Given the description of an element on the screen output the (x, y) to click on. 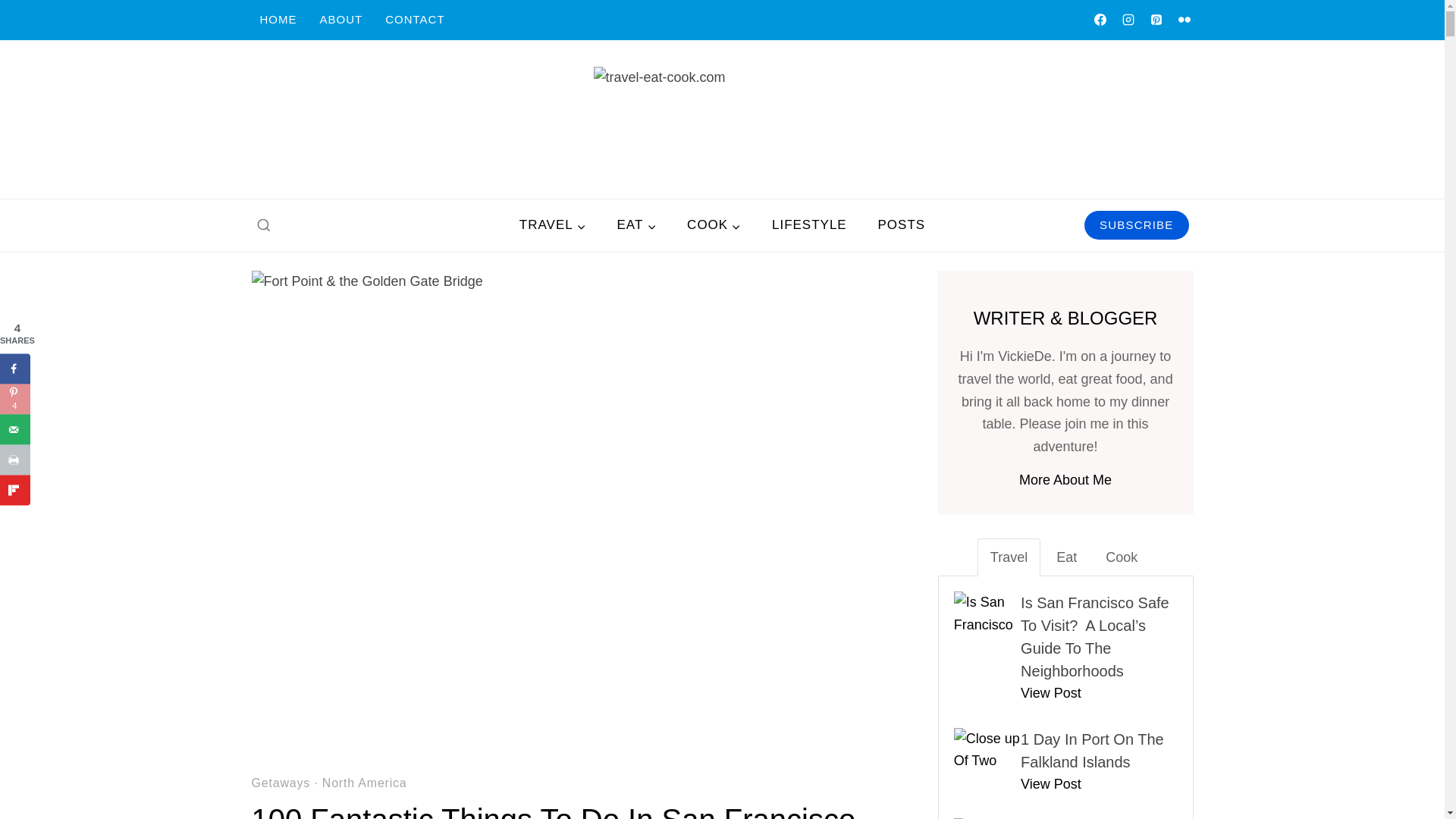
North America (364, 782)
LIFESTYLE (810, 224)
ABOUT (340, 20)
Getaways (281, 782)
EAT (636, 224)
CONTACT (414, 20)
POSTS (900, 224)
TRAVEL (552, 224)
HOME (278, 20)
